Given the description of an element on the screen output the (x, y) to click on. 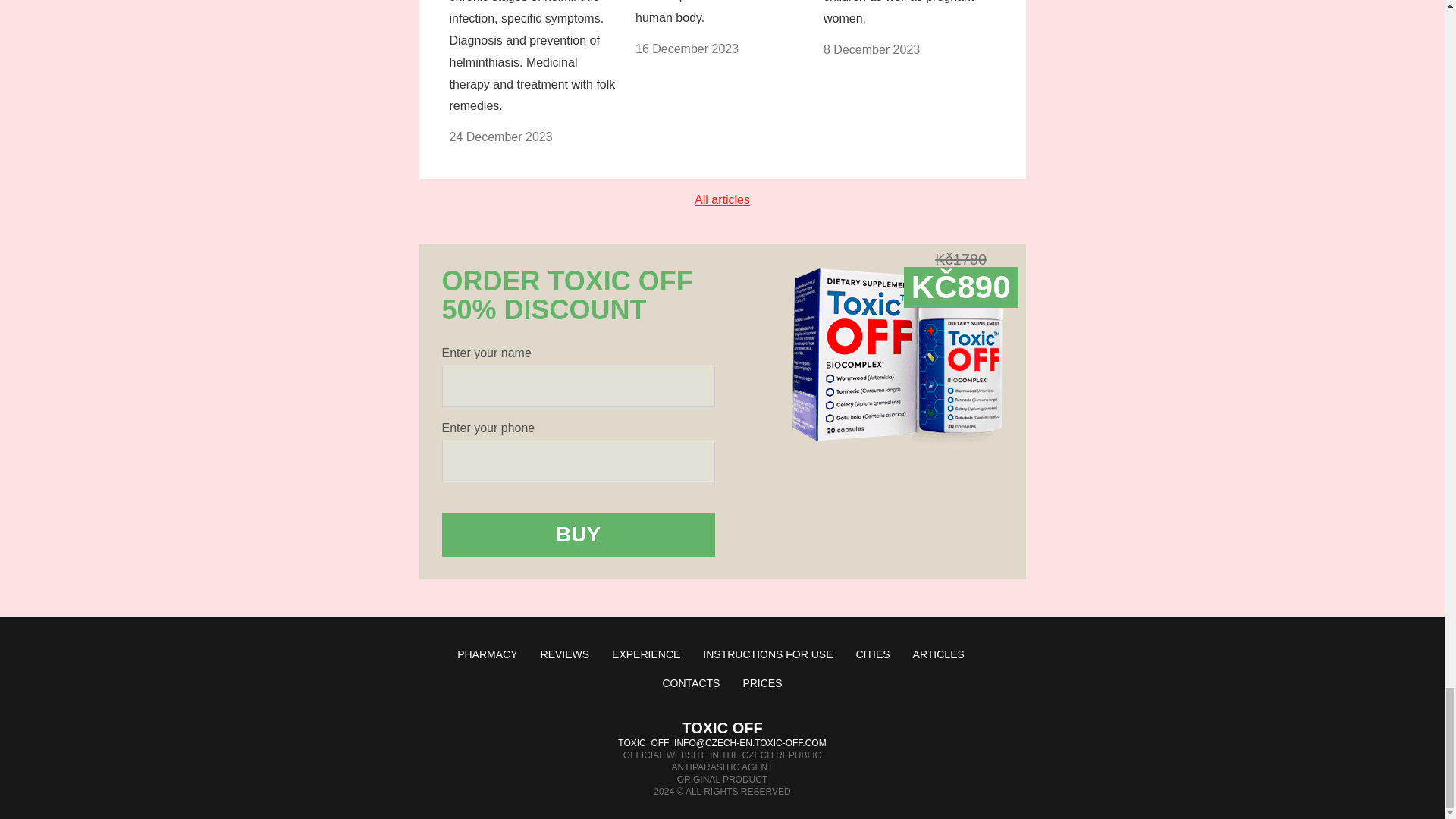
INSTRUCTIONS FOR USE (767, 654)
PHARMACY (486, 654)
REVIEWS (564, 654)
EXPERIENCE (645, 654)
BUY (577, 534)
All articles (721, 199)
